Given the description of an element on the screen output the (x, y) to click on. 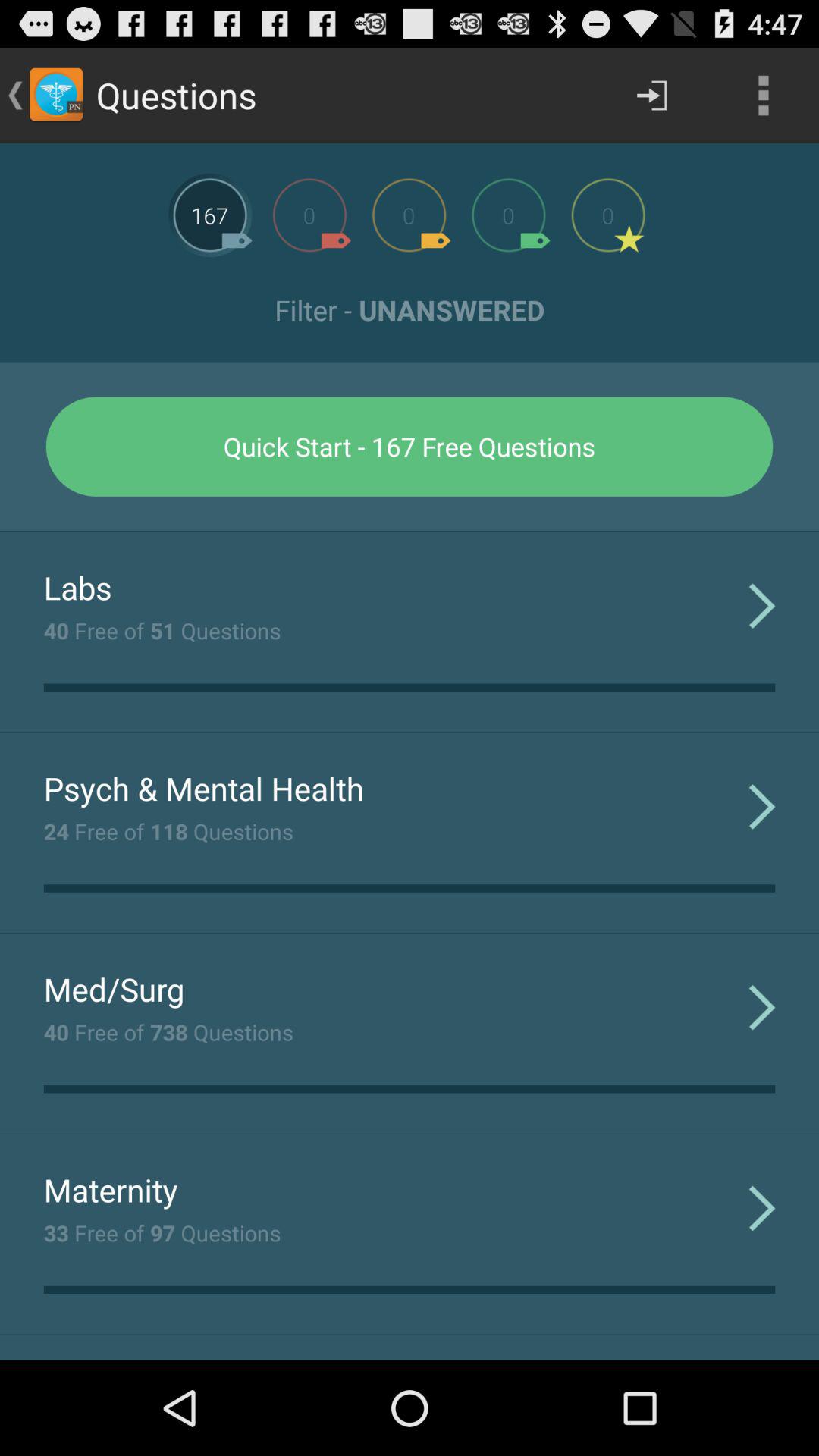
turn off the app next to 33 free of app (762, 1207)
